Given the description of an element on the screen output the (x, y) to click on. 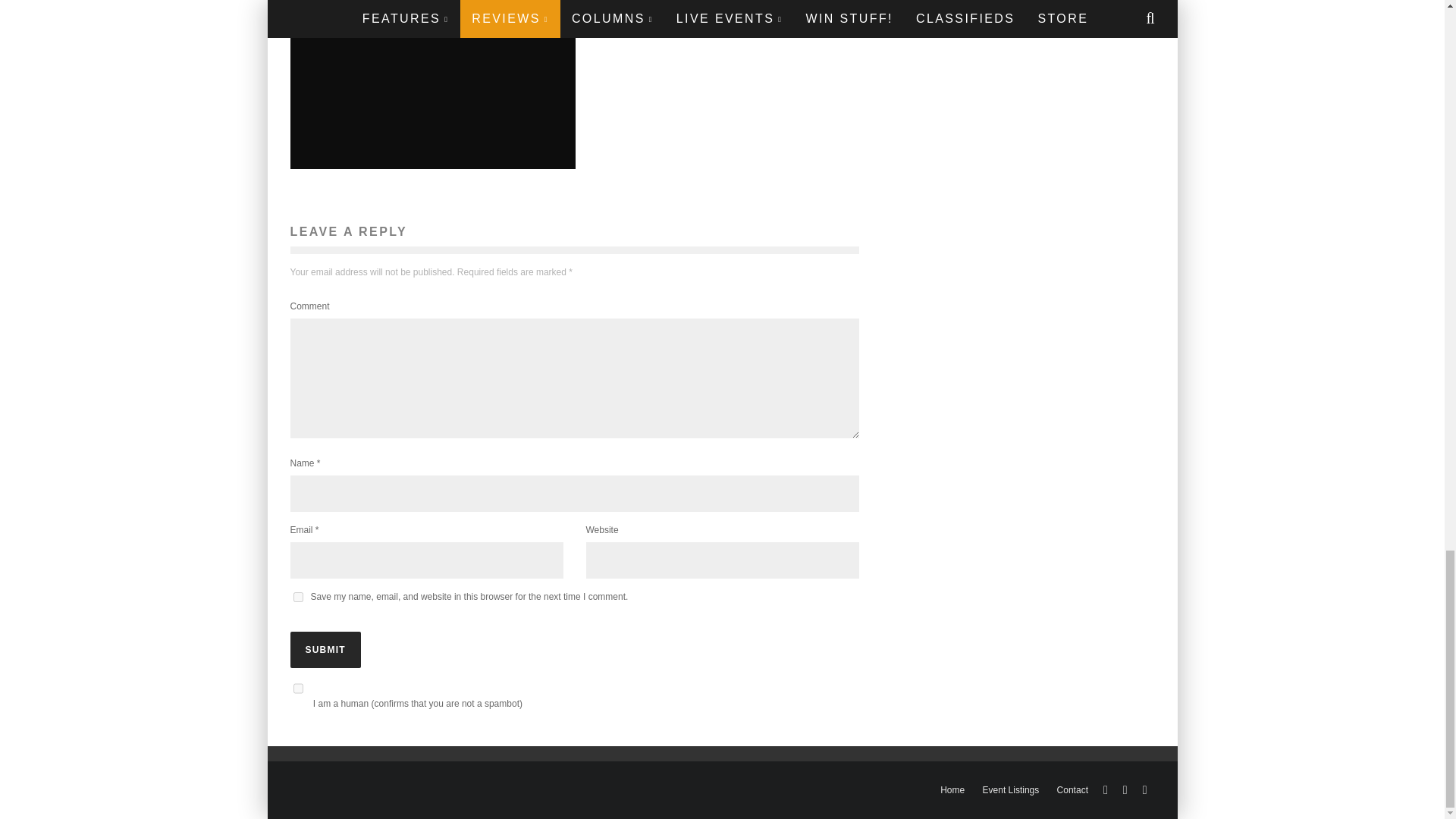
yes (297, 596)
Submit (324, 649)
